Given the description of an element on the screen output the (x, y) to click on. 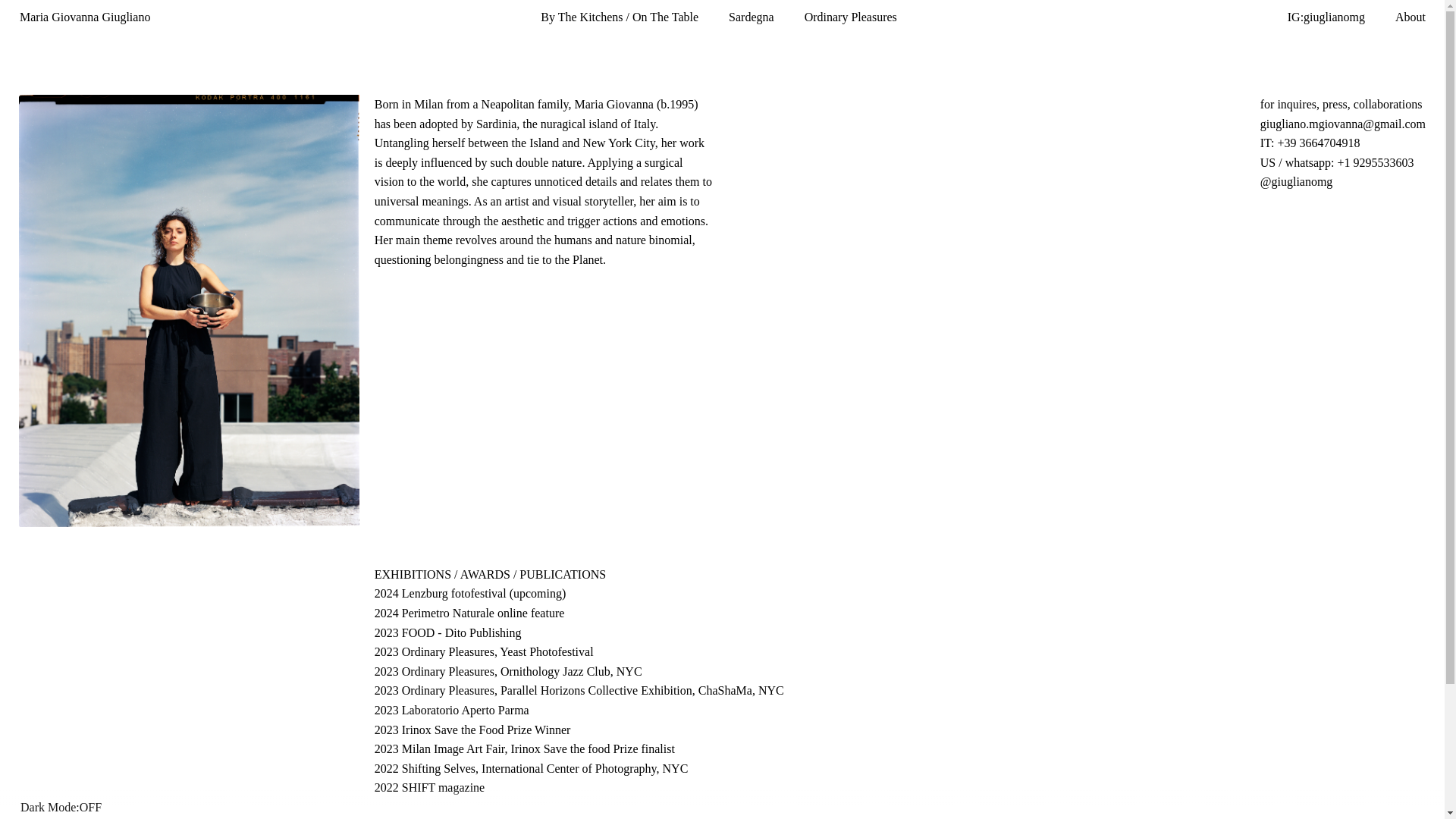
2023 Laboratorio Aperto Parma (451, 710)
2023 Ordinary Pleasures, Ornithology Jazz Club, NYC (508, 671)
Ordinary Pleasures (850, 17)
IG:giuglianomg (1326, 17)
Maria Giovanna Giugliano (84, 17)
2023 Irinox Save the Food Prize Winner (472, 730)
2023 Ordinary Pleasures, Yeast Photofestival (484, 651)
Sardegna (751, 17)
